Given the description of an element on the screen output the (x, y) to click on. 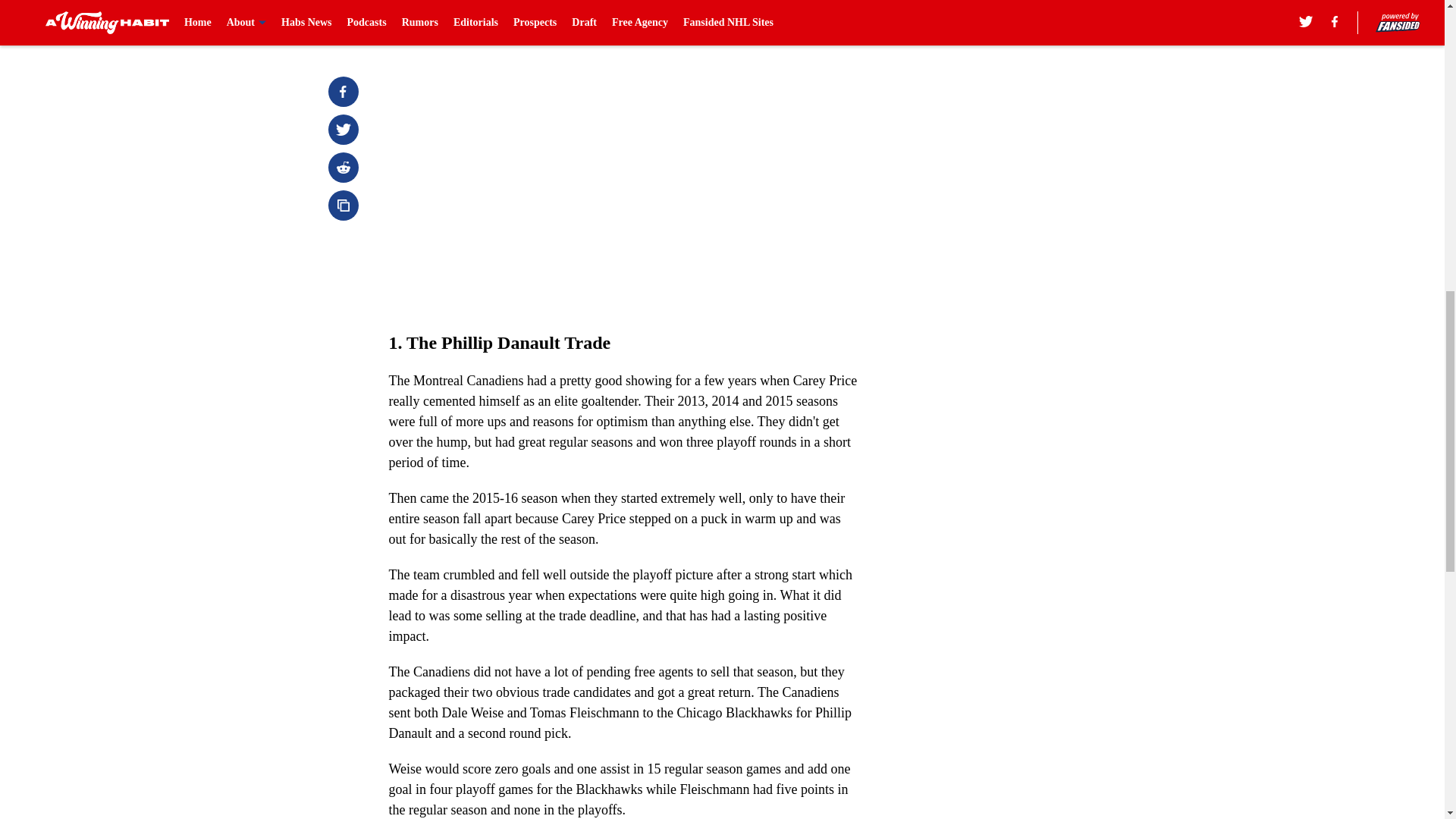
Prev (433, 20)
Next (813, 20)
